Given the description of an element on the screen output the (x, y) to click on. 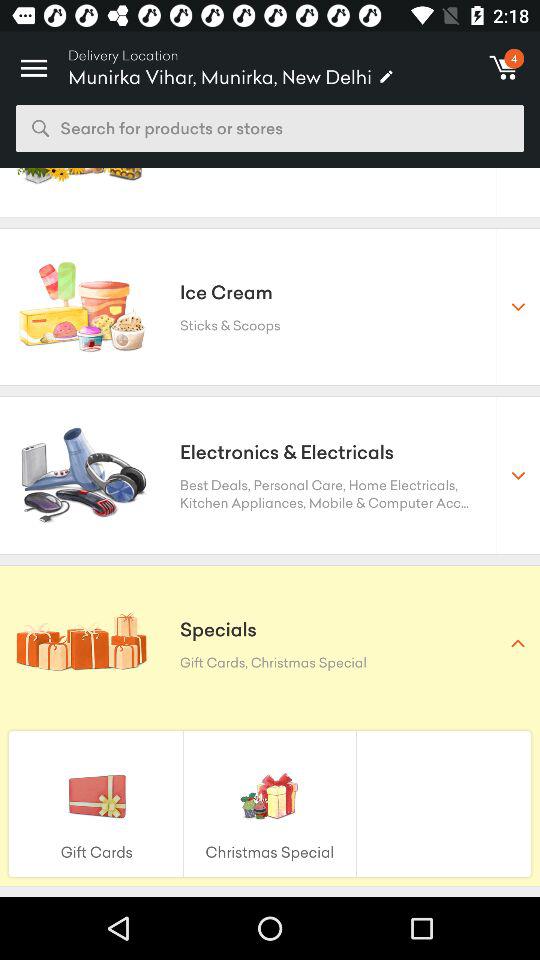
click the item next to delivery location icon (33, 62)
